Given the description of an element on the screen output the (x, y) to click on. 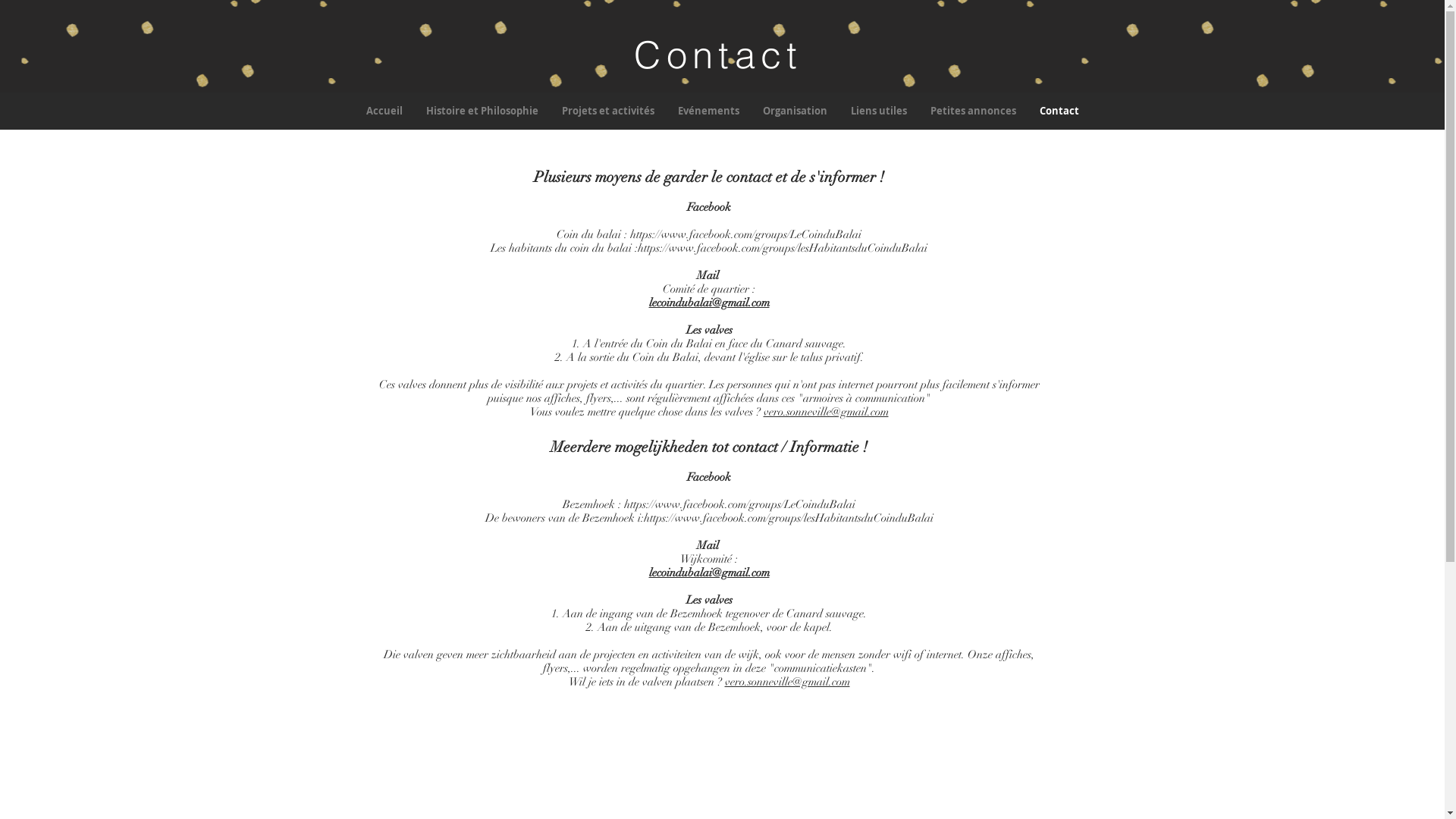
https://www.facebook.com/groups/LeCoinduBalai Element type: text (745, 234)
Accueil Element type: text (384, 110)
lecoindubalai@gmail.com Element type: text (709, 302)
Histoire et Philosophie Element type: text (481, 110)
Contact Element type: text (1058, 110)
https://www.facebook.com/groups/lesHabitantsduCoinduBalai Element type: text (782, 247)
vero.sonneville@gmail.com Element type: text (825, 411)
https://www.facebook.com/groups/lesHabitantsduCoinduBalai Element type: text (787, 517)
Petites annonces Element type: text (972, 110)
Liens utiles Element type: text (878, 110)
vero.sonneville@gmail.com Element type: text (787, 681)
Organisation Element type: text (794, 110)
lecoindubalai@gmail.com Element type: text (709, 572)
https://www.facebook.com/groups/LeCoinduBalai Element type: text (739, 504)
